Given the description of an element on the screen output the (x, y) to click on. 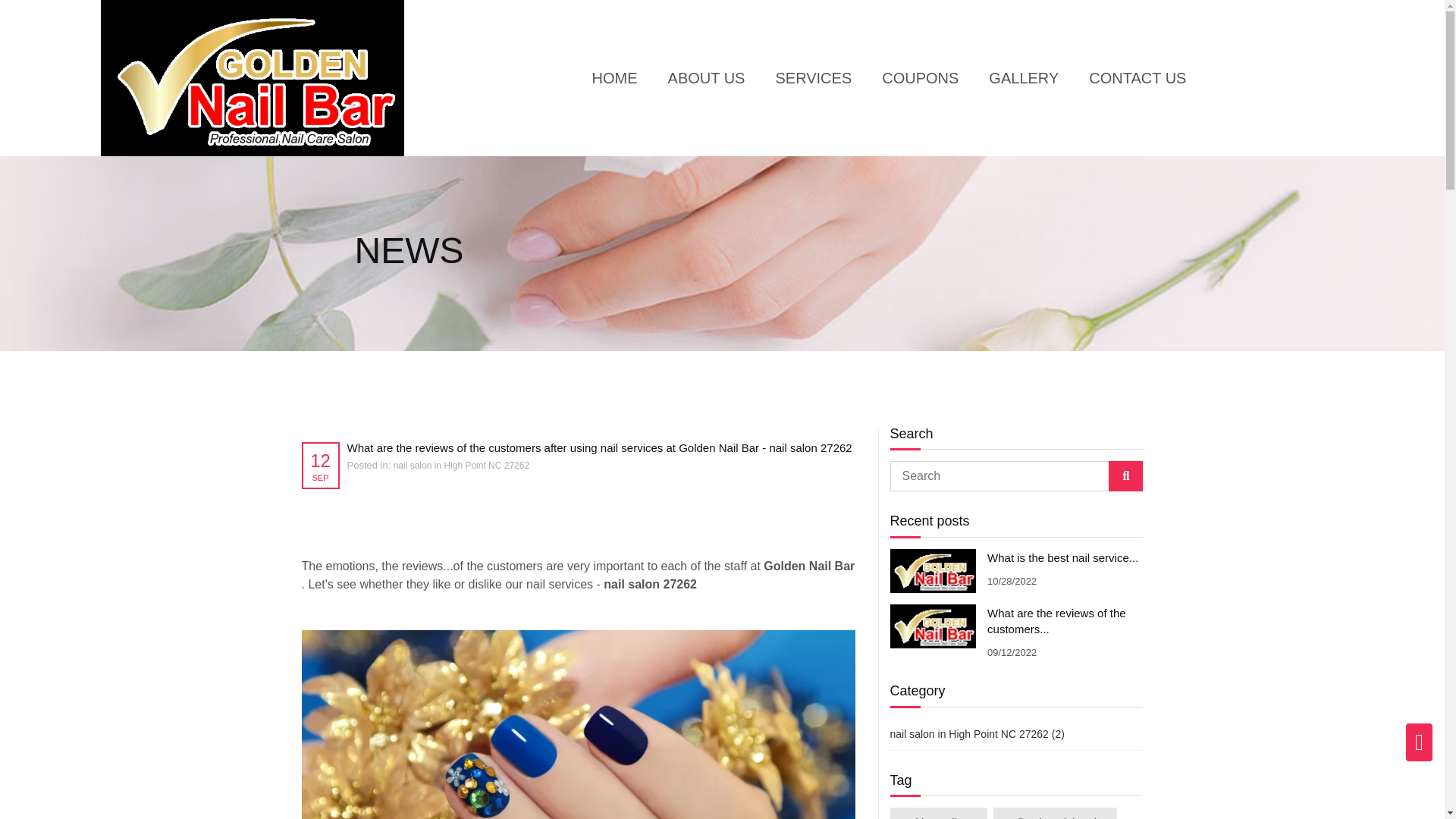
Gallery (1023, 77)
CONTACT US (1137, 77)
COUPONS (920, 77)
nail salon High Point, NC 27262 (652, 584)
What are the reviews of the customers... (1056, 621)
nail salon 27262  (652, 584)
nail salon High Point, NC 27262 (807, 565)
nail salon in High Point NC 27262 (461, 465)
Logo (251, 76)
About Us (706, 77)
GALLERY (1023, 77)
SERVICES (812, 77)
Contact Us (1137, 77)
Coupons (920, 77)
Home (614, 77)
